Given the description of an element on the screen output the (x, y) to click on. 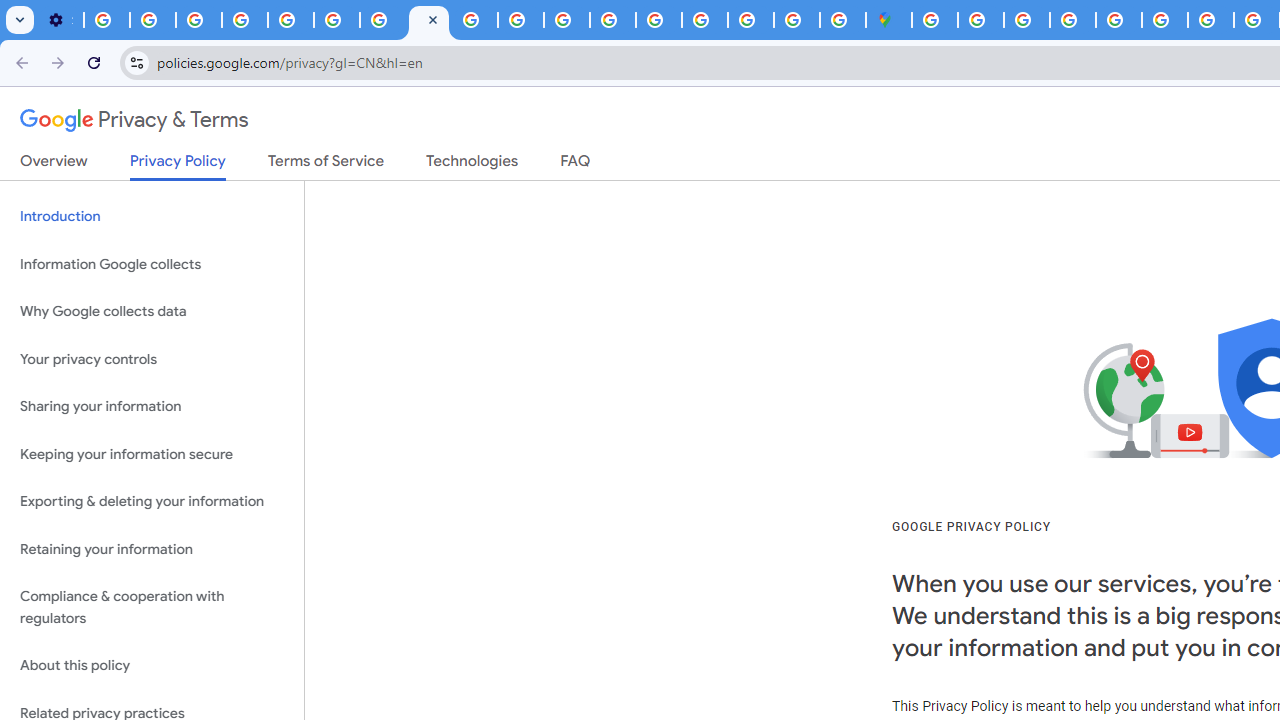
Blogger Policies and Guidelines - Transparency Center (1210, 20)
